Given the description of an element on the screen output the (x, y) to click on. 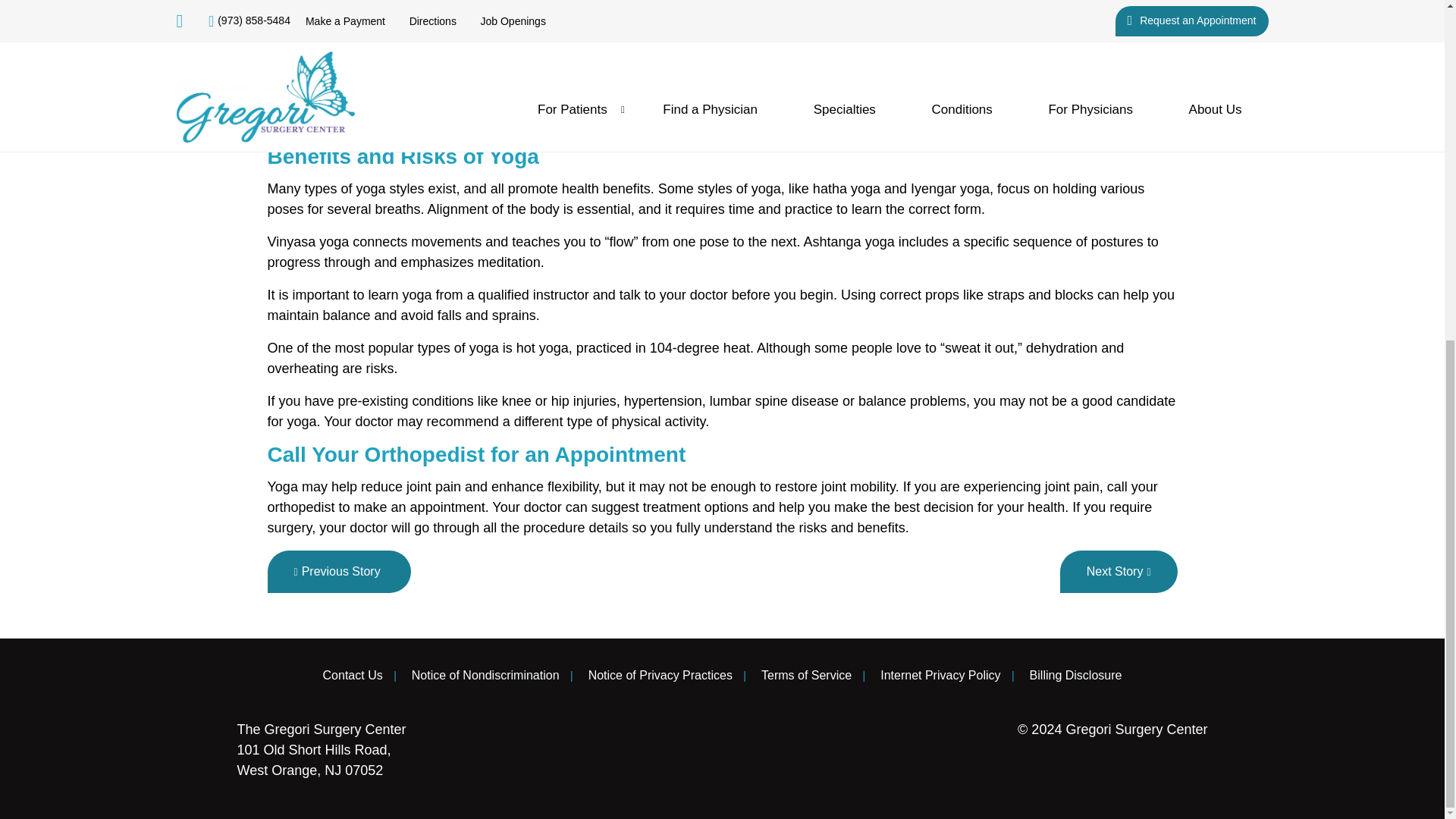
Notice of Privacy Practices (660, 675)
Previous Story (338, 571)
Notice of Nondiscrimination (485, 675)
Contact Us (352, 675)
Next Story (1118, 571)
